Given the description of an element on the screen output the (x, y) to click on. 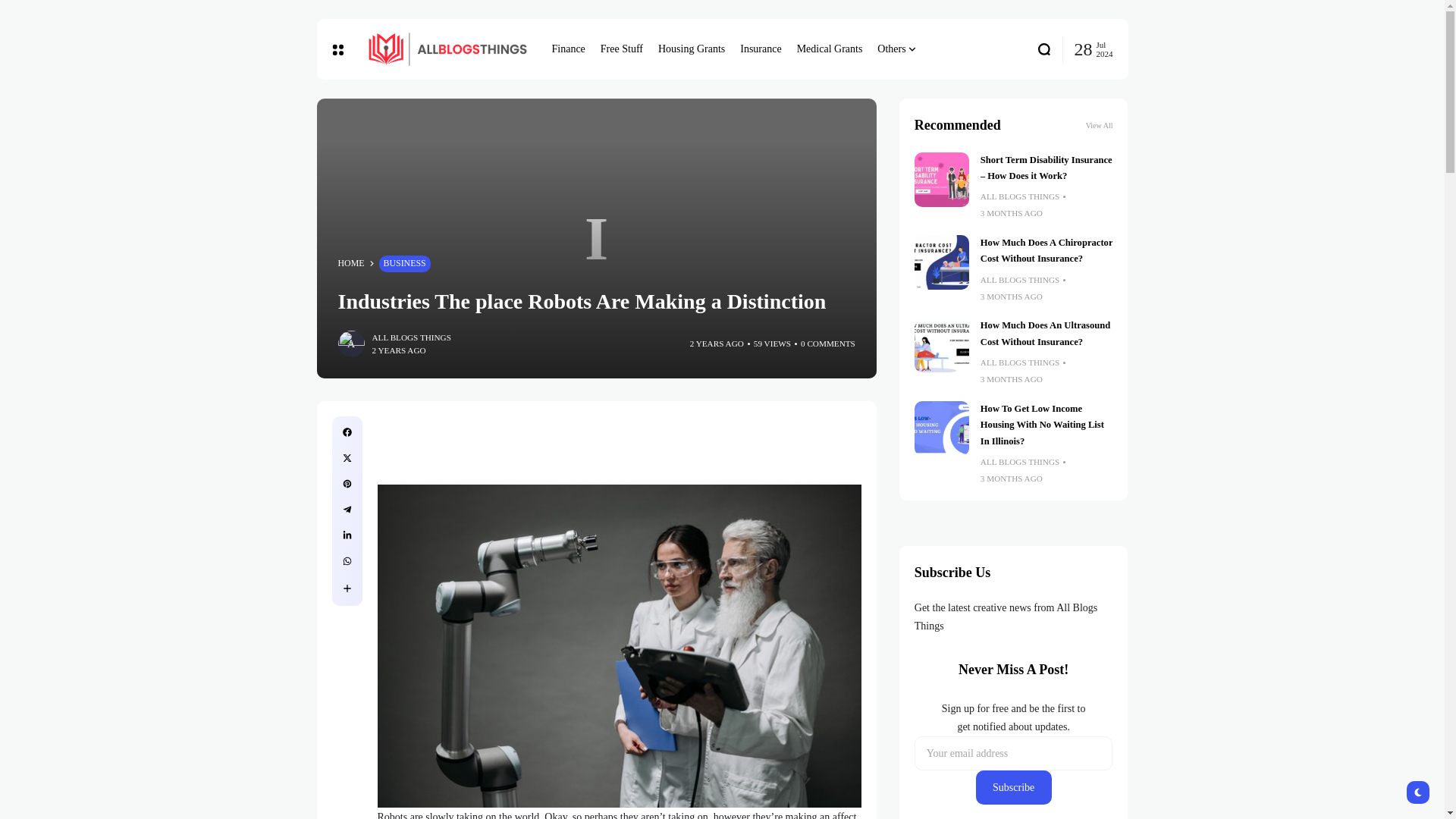
Posts by All Blogs Things (1019, 196)
2 YEARS AGO (717, 343)
BUSINESS (404, 263)
How Much Does An Ultrasound Cost Without Insurance? (941, 344)
How Much Does An Ultrasound Cost Without Insurance? (1044, 333)
ALL BLOGS THINGS (410, 337)
Posts by All Blogs Things (1019, 279)
How Much Does A Chiropractor Cost Without Insurance? (1046, 250)
Posts by All Blogs Things (410, 337)
How Much Does A Chiropractor Cost Without Insurance? (941, 262)
59 VIEWS (772, 343)
Medical Grants (829, 48)
0 COMMENTS (828, 343)
HOME (351, 264)
